Given the description of an element on the screen output the (x, y) to click on. 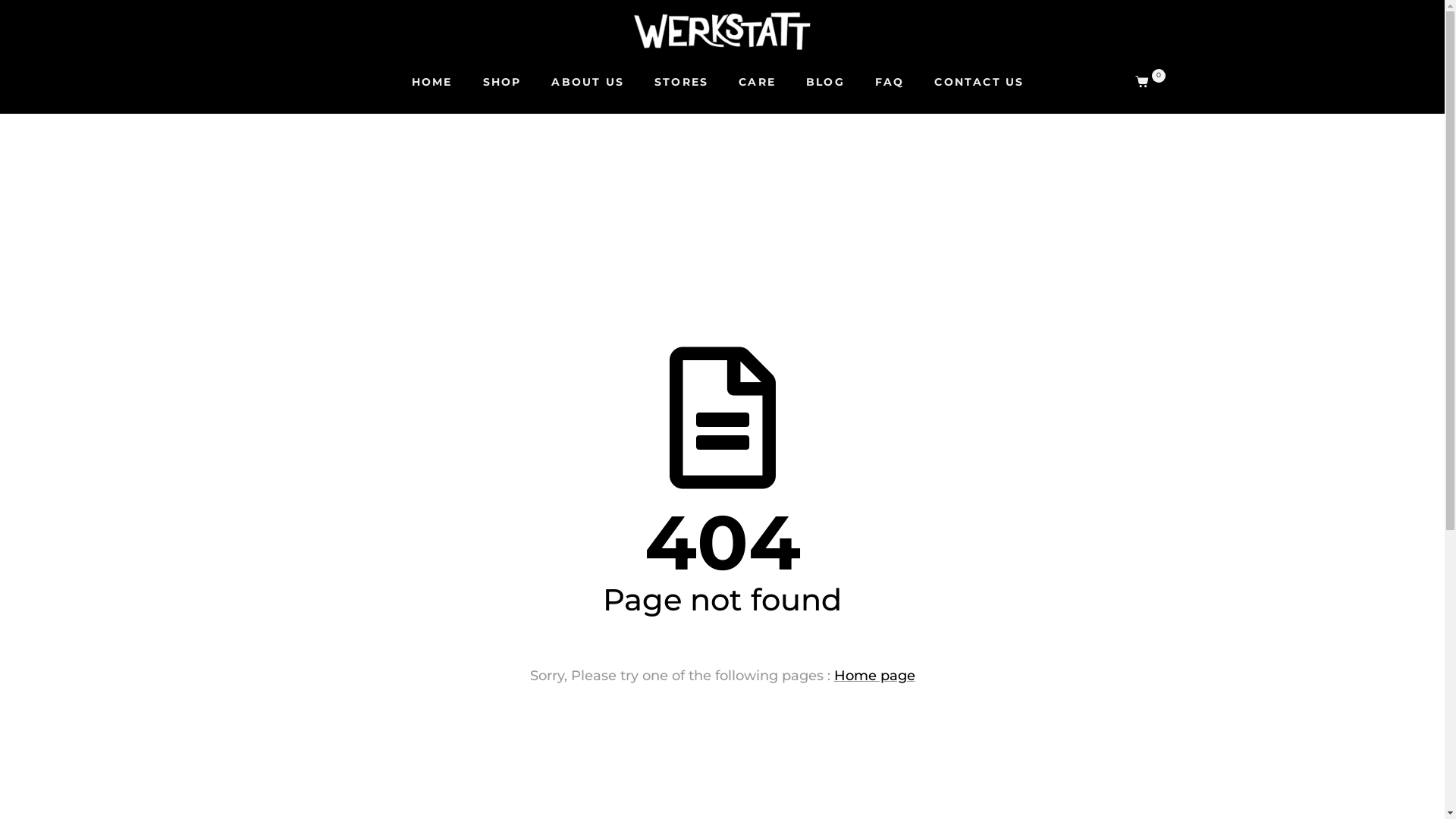
Home page Element type: text (874, 675)
FAQ Element type: text (889, 81)
CONTACT US Element type: text (978, 81)
BLOG Element type: text (824, 81)
CARE Element type: text (756, 81)
ABOUT US Element type: text (587, 81)
SHOP Element type: text (501, 81)
HOME Element type: text (431, 81)
STORES Element type: text (681, 81)
0 Element type: text (1150, 81)
